Given the description of an element on the screen output the (x, y) to click on. 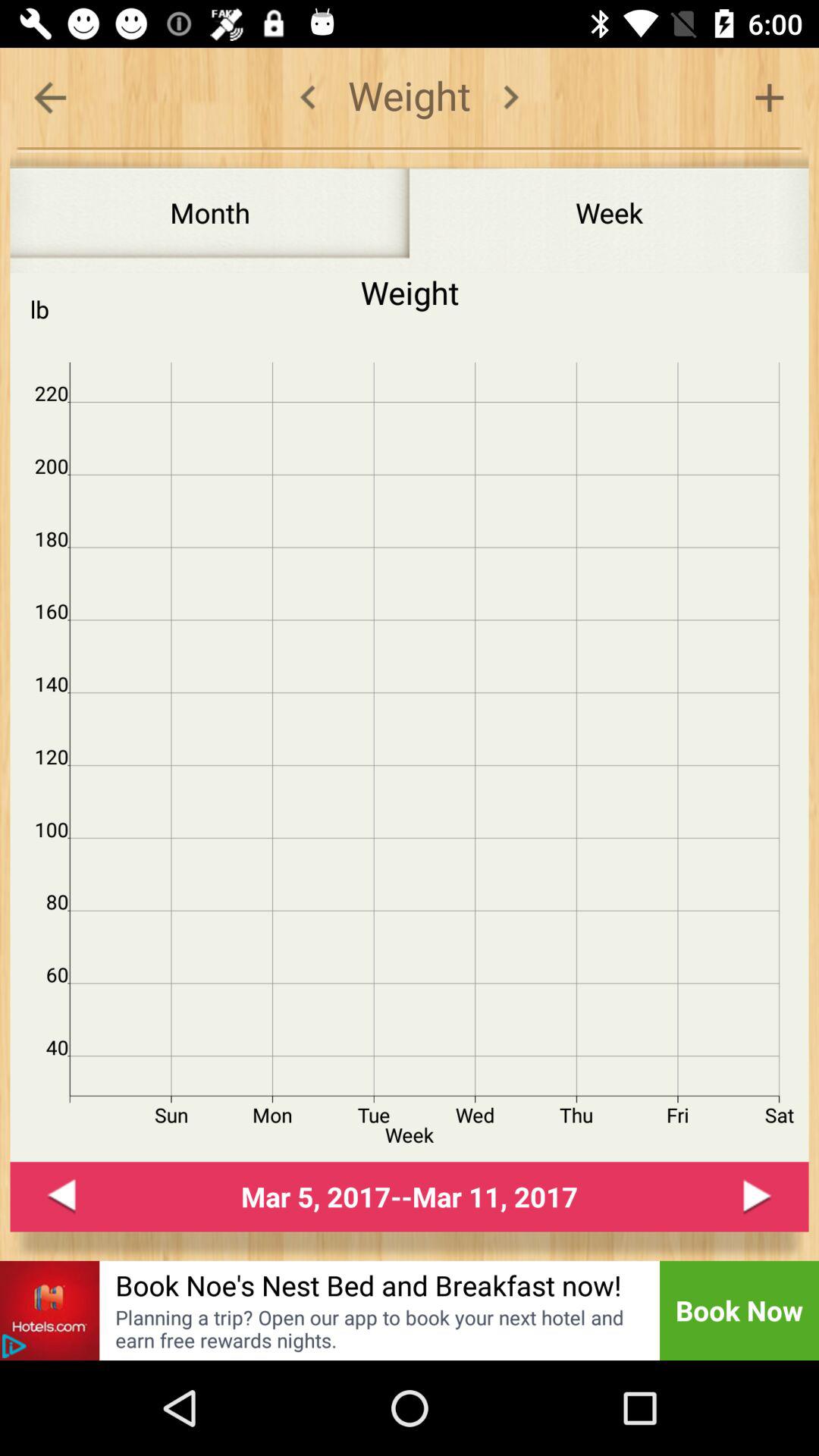
go next (757, 1196)
